Given the description of an element on the screen output the (x, y) to click on. 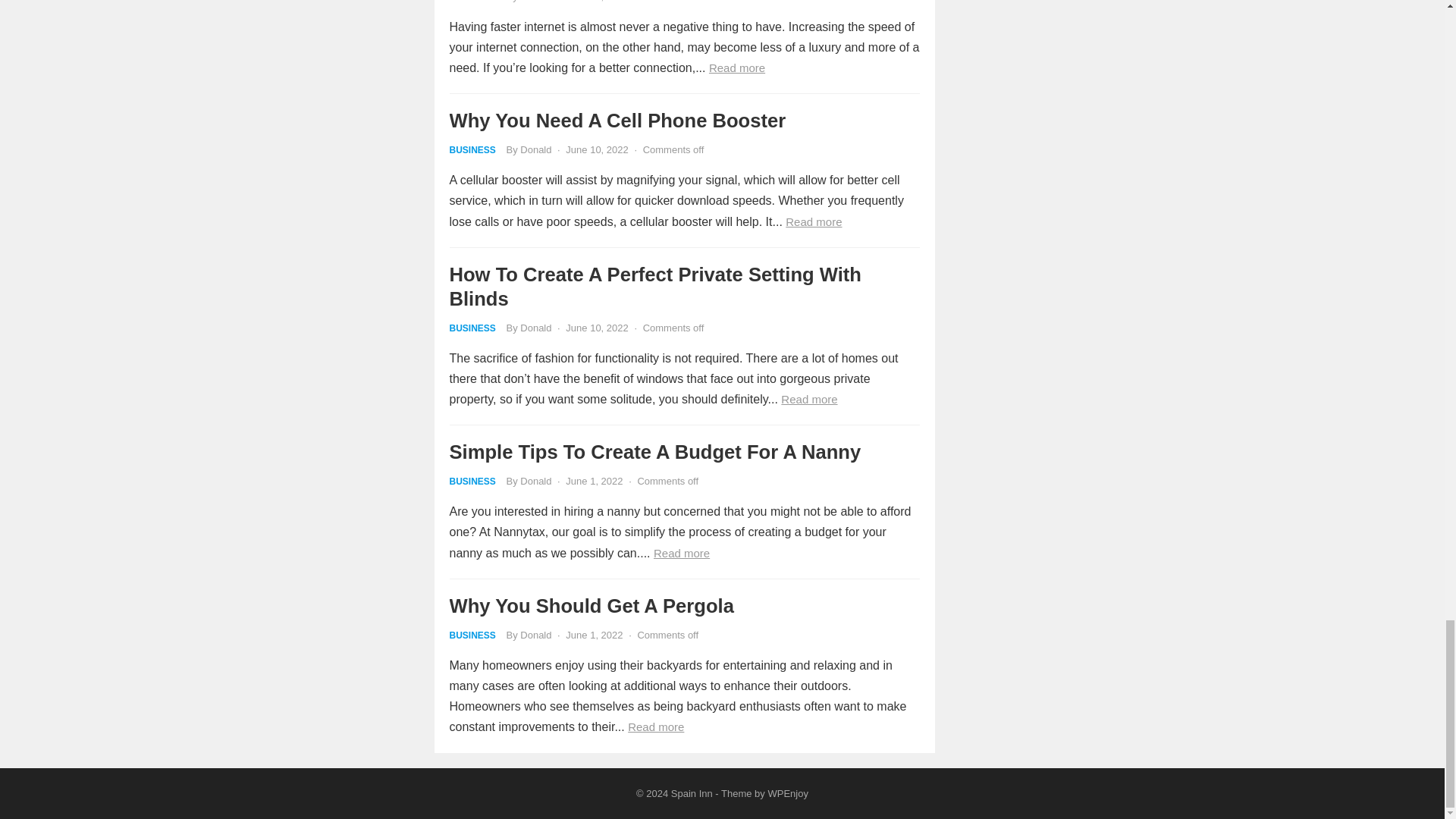
Posts by Donald (535, 480)
Posts by Donald (535, 1)
Posts by Donald (535, 149)
Posts by Donald (535, 634)
Posts by Donald (535, 327)
